Given the description of an element on the screen output the (x, y) to click on. 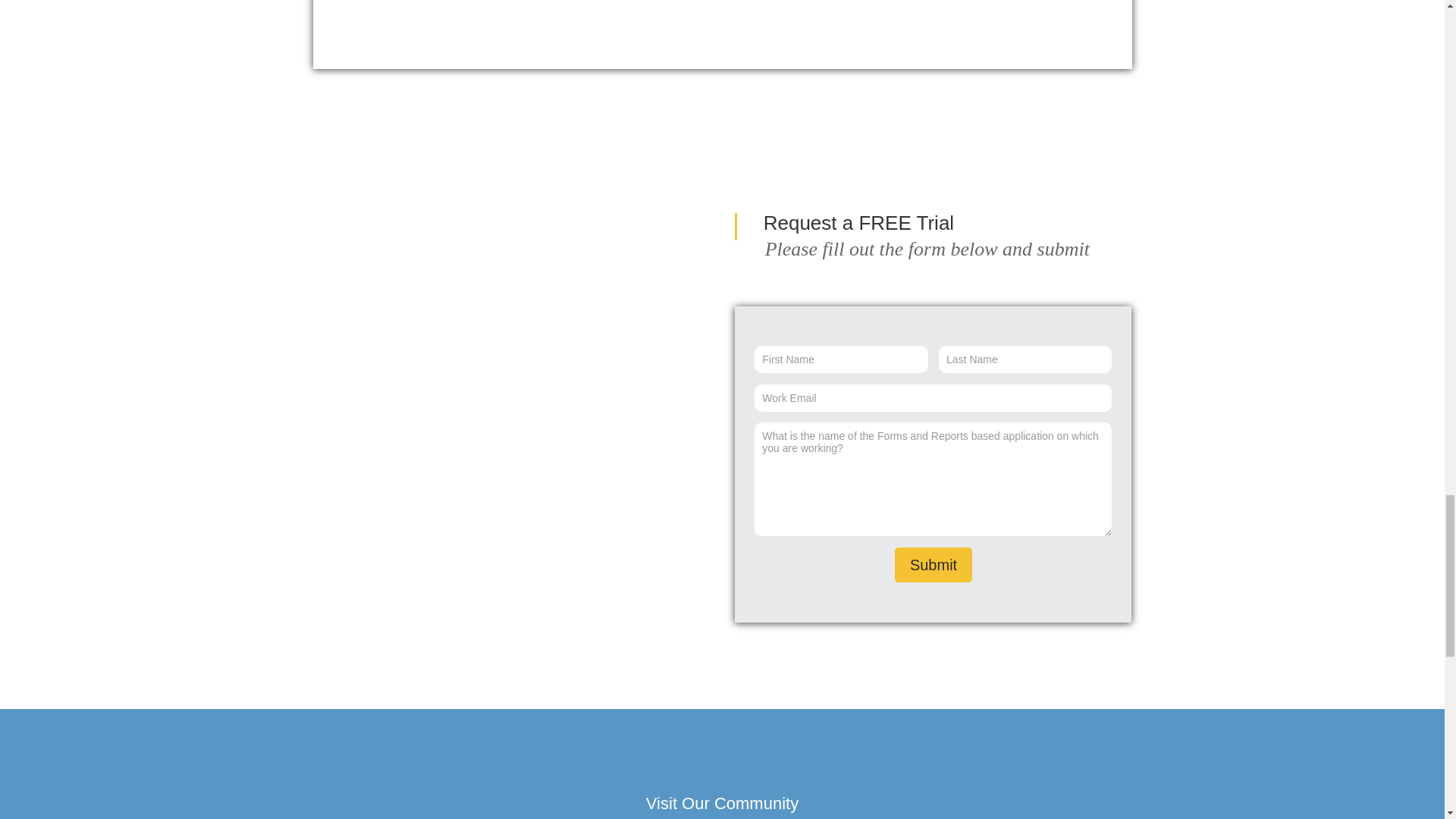
Submit (933, 564)
Last Name (1025, 359)
Work Email (933, 397)
First Name (840, 359)
